Given the description of an element on the screen output the (x, y) to click on. 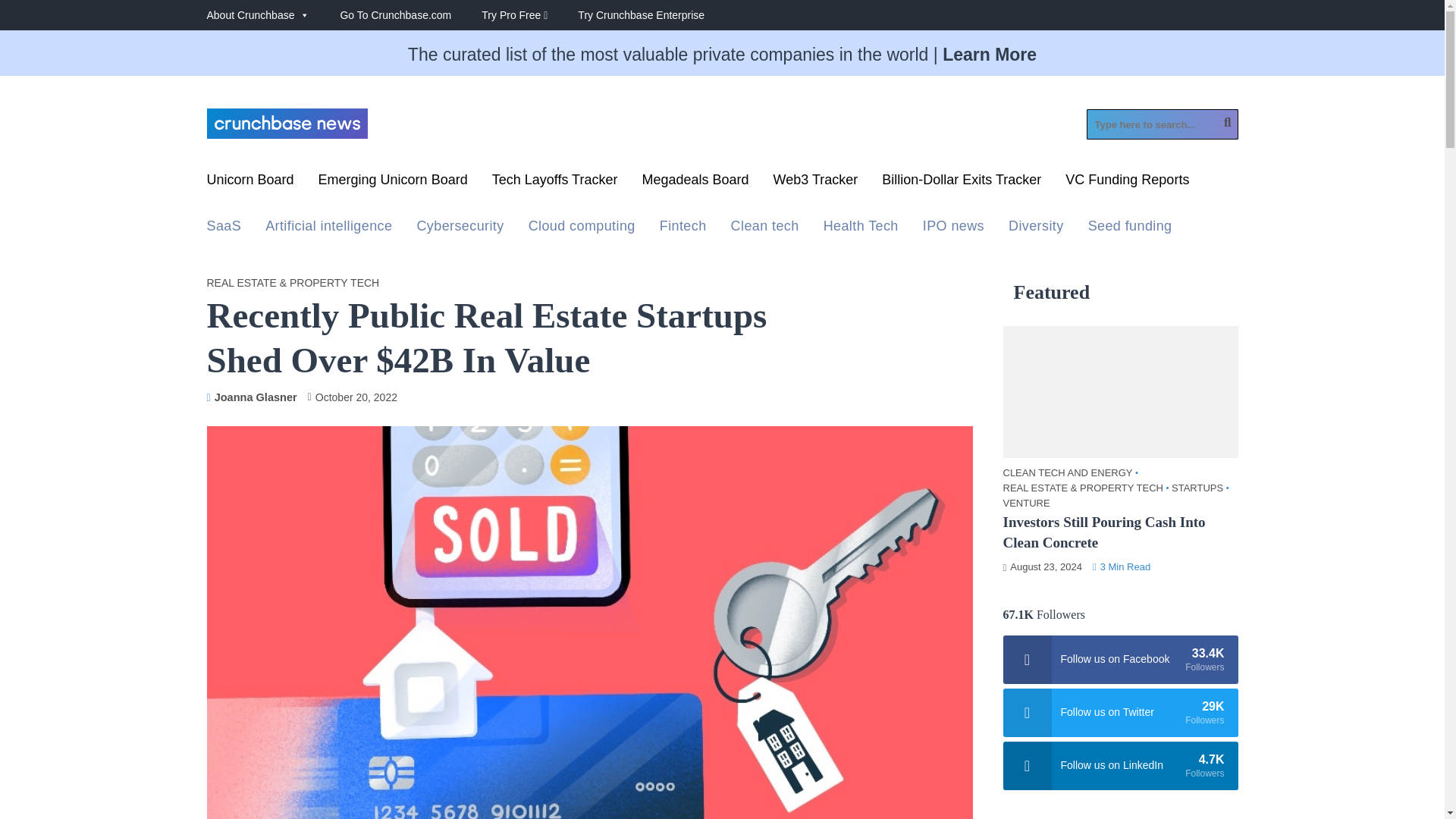
Billion-Dollar Exits Tracker (961, 183)
Tech Layoffs Tracker (554, 183)
Go To Crunchbase.com (410, 15)
Try Pro Free (529, 15)
Web3 Tracker (816, 183)
Megadeals Board (695, 183)
Try Crunchbase Enterprise (656, 15)
VC Funding Reports (1136, 183)
Emerging Unicorn Board (392, 183)
About Crunchbase (272, 15)
